Given the description of an element on the screen output the (x, y) to click on. 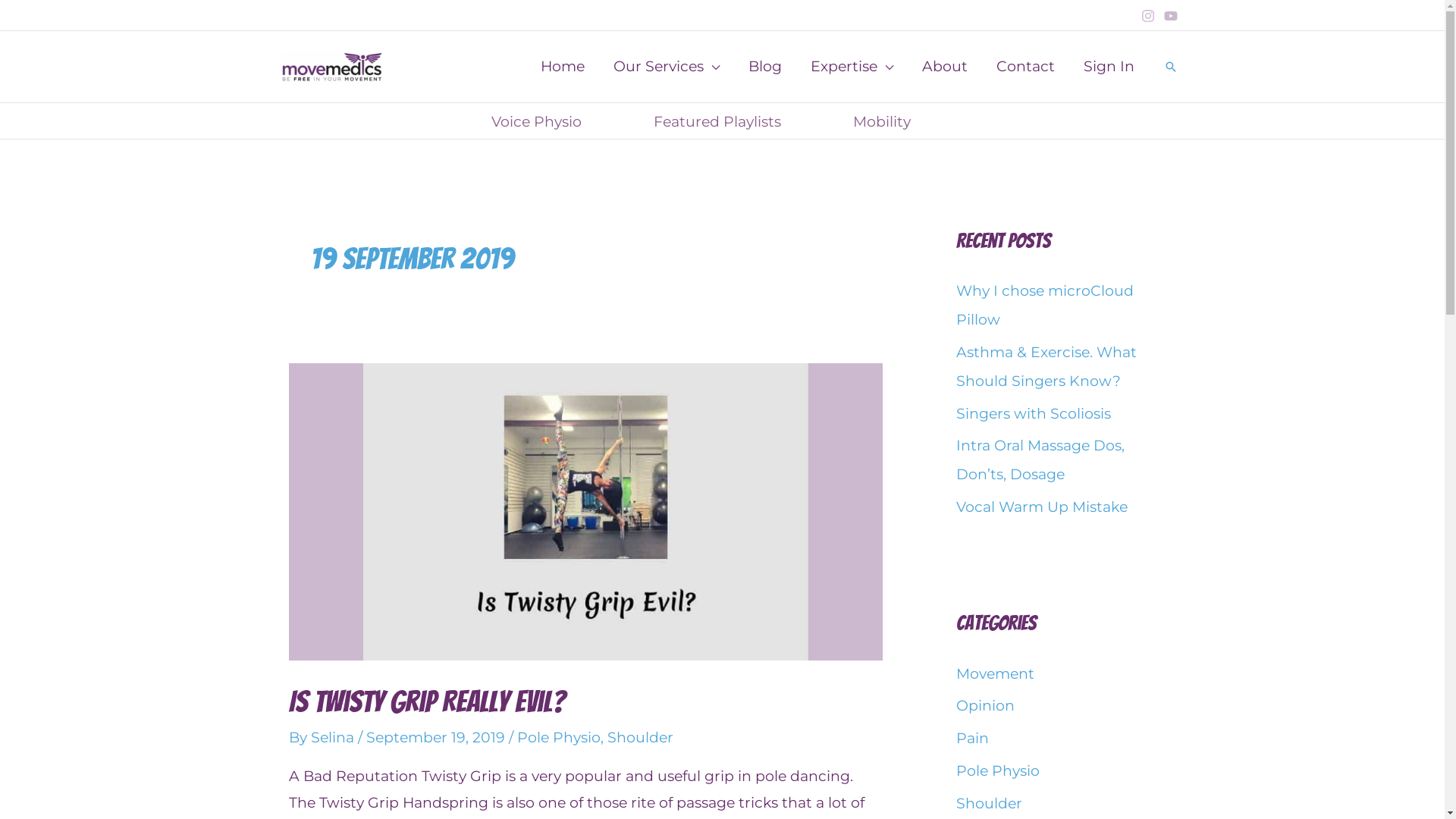
Shoulder Element type: text (988, 803)
Why I chose microCloud Pillow Element type: text (1043, 305)
Featured Playlists Element type: text (737, 121)
Voice Physio Element type: text (557, 121)
Search Element type: text (1169, 66)
Pole Physio Element type: text (996, 770)
Asthma & Exercise. What Should Singers Know? Element type: text (1045, 366)
Singers with Scoliosis Element type: text (1032, 413)
Our Services Element type: text (666, 66)
Pole Physio Element type: text (558, 737)
Sign In Element type: text (1108, 66)
Mobility Element type: text (903, 121)
Vocal Warm Up Mistake Element type: text (1040, 506)
Selina Element type: text (333, 737)
Blog Element type: text (765, 66)
Home Element type: text (562, 66)
About Element type: text (943, 66)
Pain Element type: text (971, 737)
Contact Element type: text (1024, 66)
Shoulder Element type: text (640, 737)
Expertise Element type: text (851, 66)
Opinion Element type: text (984, 705)
Movement Element type: text (994, 672)
Is Twisty Grip Really Evil? Element type: text (426, 701)
